Given the description of an element on the screen output the (x, y) to click on. 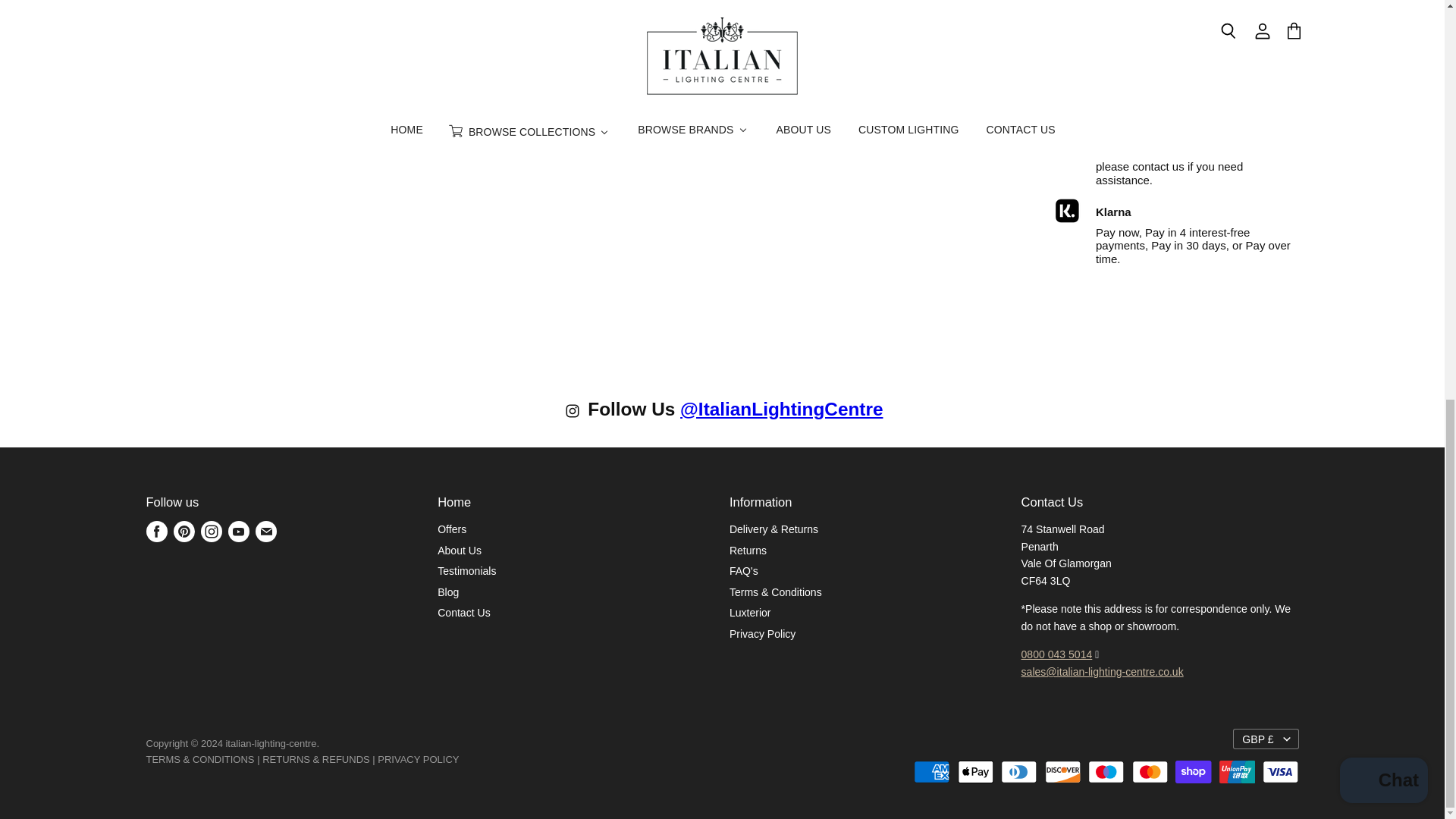
Youtube (237, 531)
E-mail (265, 531)
Facebook (156, 531)
Pinterest (183, 531)
Instagram (575, 414)
Instagram (210, 531)
